Given the description of an element on the screen output the (x, y) to click on. 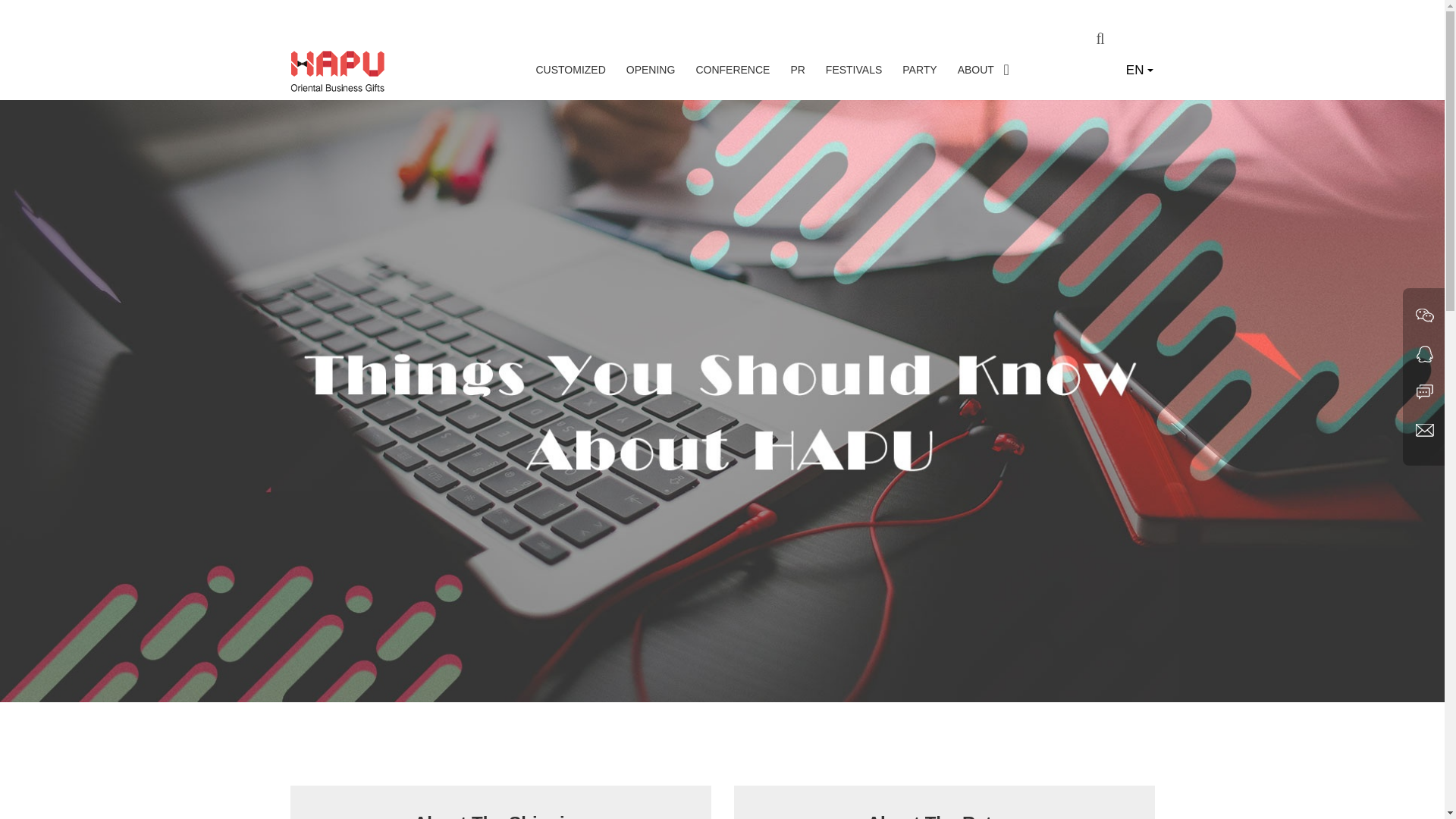
EN (1139, 69)
CUSTOMIZED (570, 72)
PR (797, 72)
CONFERENCE (732, 72)
PARTY (919, 72)
ABOUT (976, 72)
FESTIVALS (853, 72)
OPENING (650, 72)
